Given the description of an element on the screen output the (x, y) to click on. 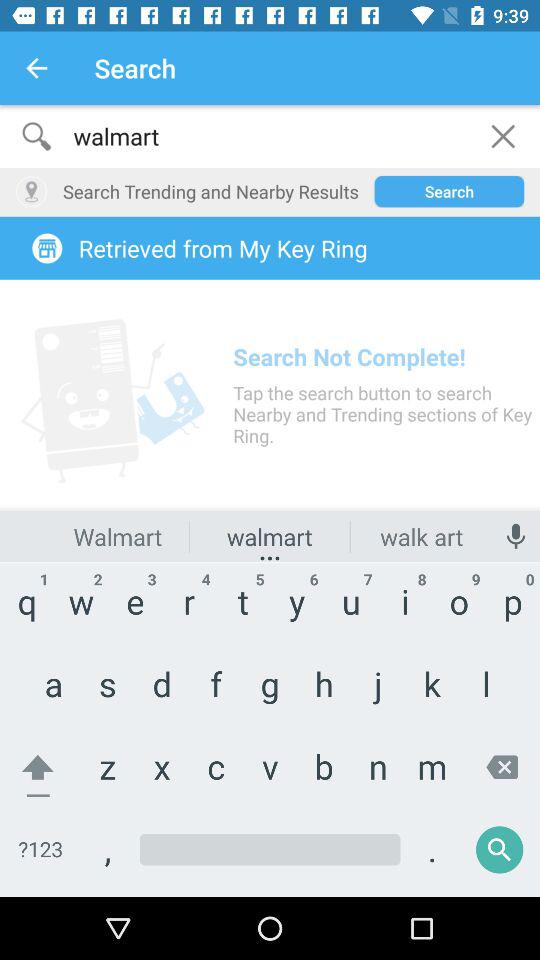
tap click topn (270, 501)
